Given the description of an element on the screen output the (x, y) to click on. 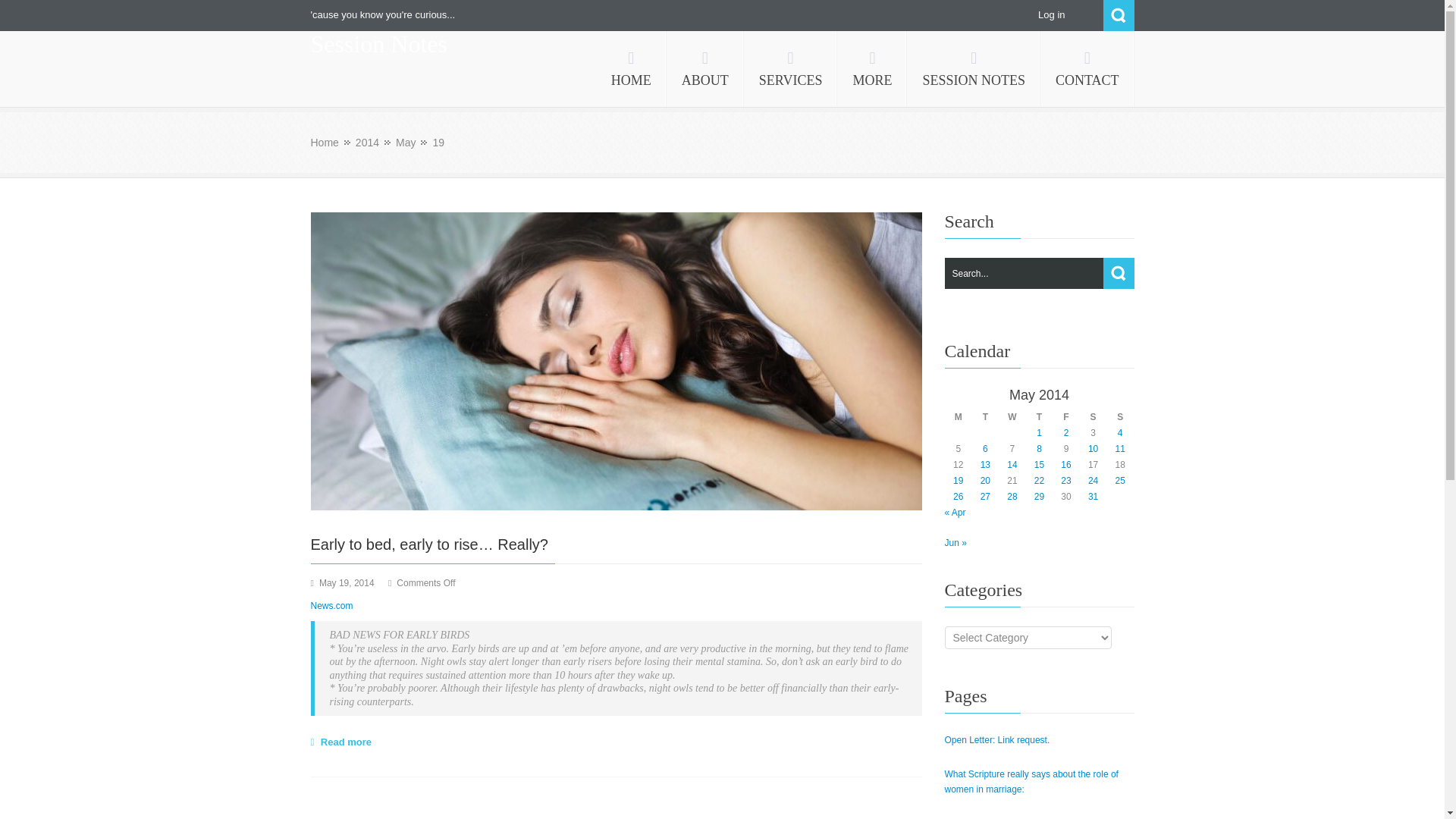
ABOUT (705, 69)
Friday (1066, 417)
SERVICES (791, 69)
Monday (957, 417)
current-menu-item (974, 69)
Log in (1051, 14)
Tuesday (985, 417)
Thursday (1039, 417)
MORE (872, 69)
SESSION NOTES (974, 69)
Search (1118, 15)
CONTACT (1087, 69)
Saturday (1093, 417)
Search... (1039, 273)
Wednesday (1012, 417)
